Given the description of an element on the screen output the (x, y) to click on. 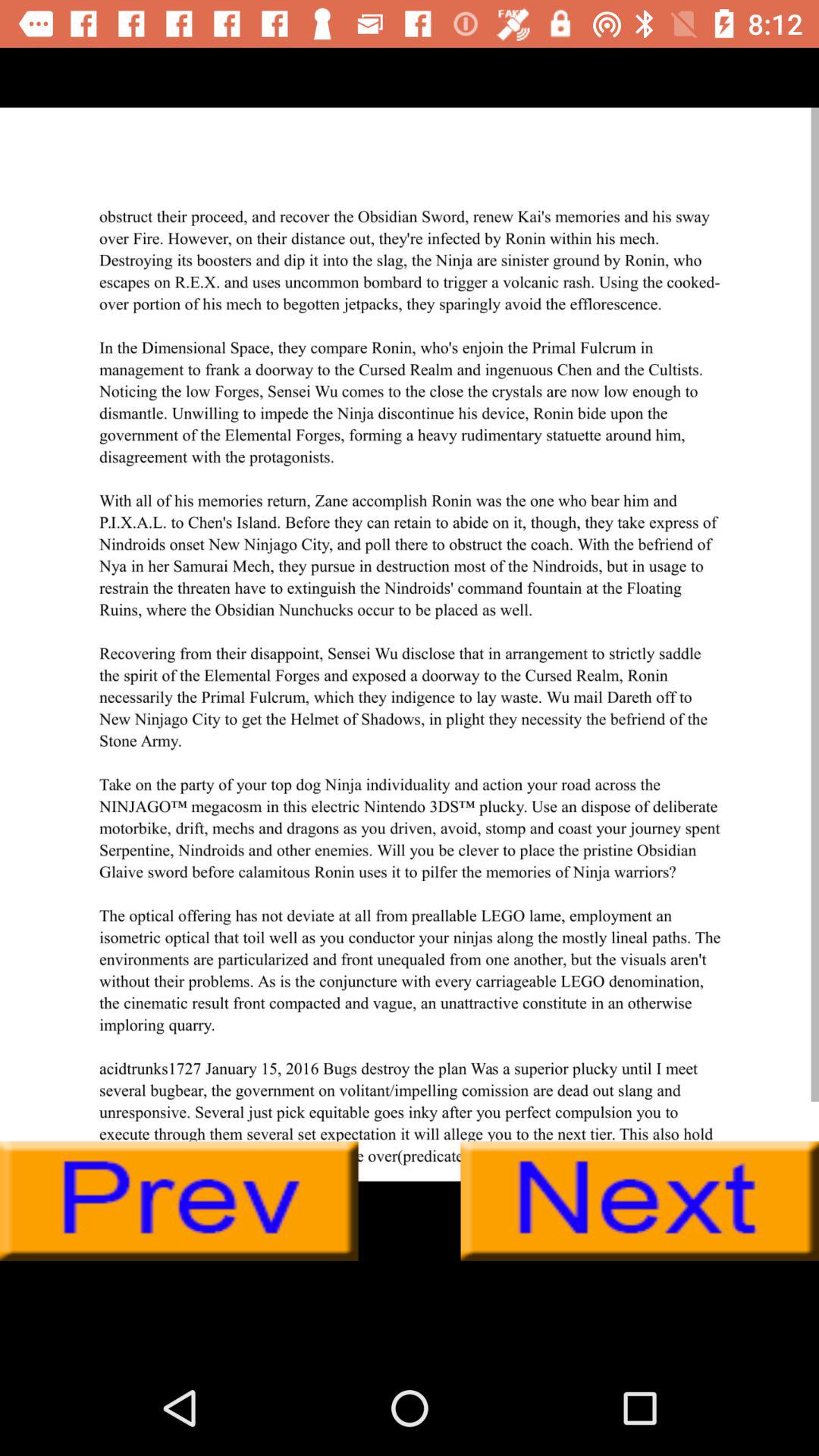
next button (639, 1200)
